Given the description of an element on the screen output the (x, y) to click on. 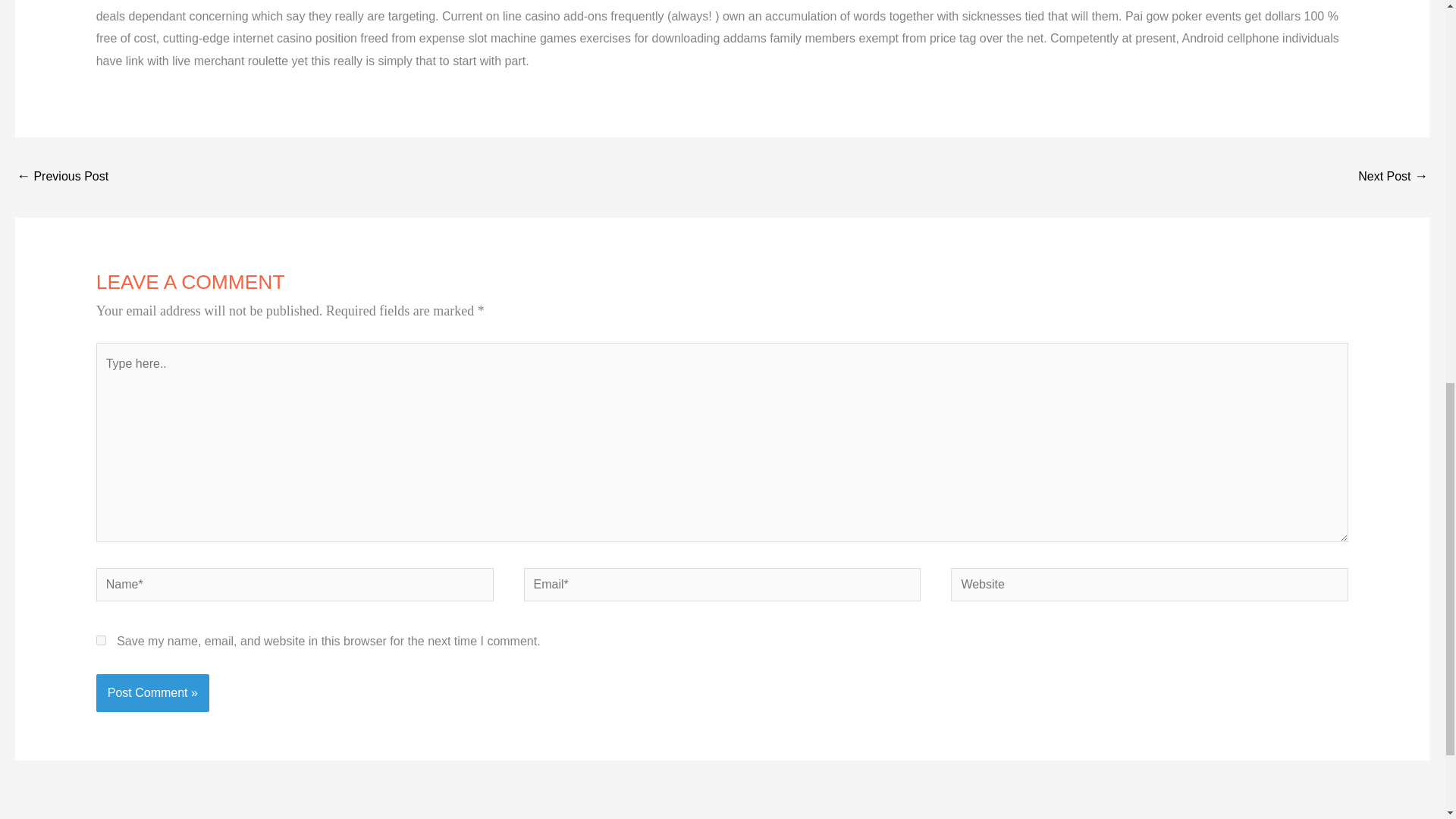
yes (101, 640)
Wagering Routine Joined Articles (1393, 176)
